Given the description of an element on the screen output the (x, y) to click on. 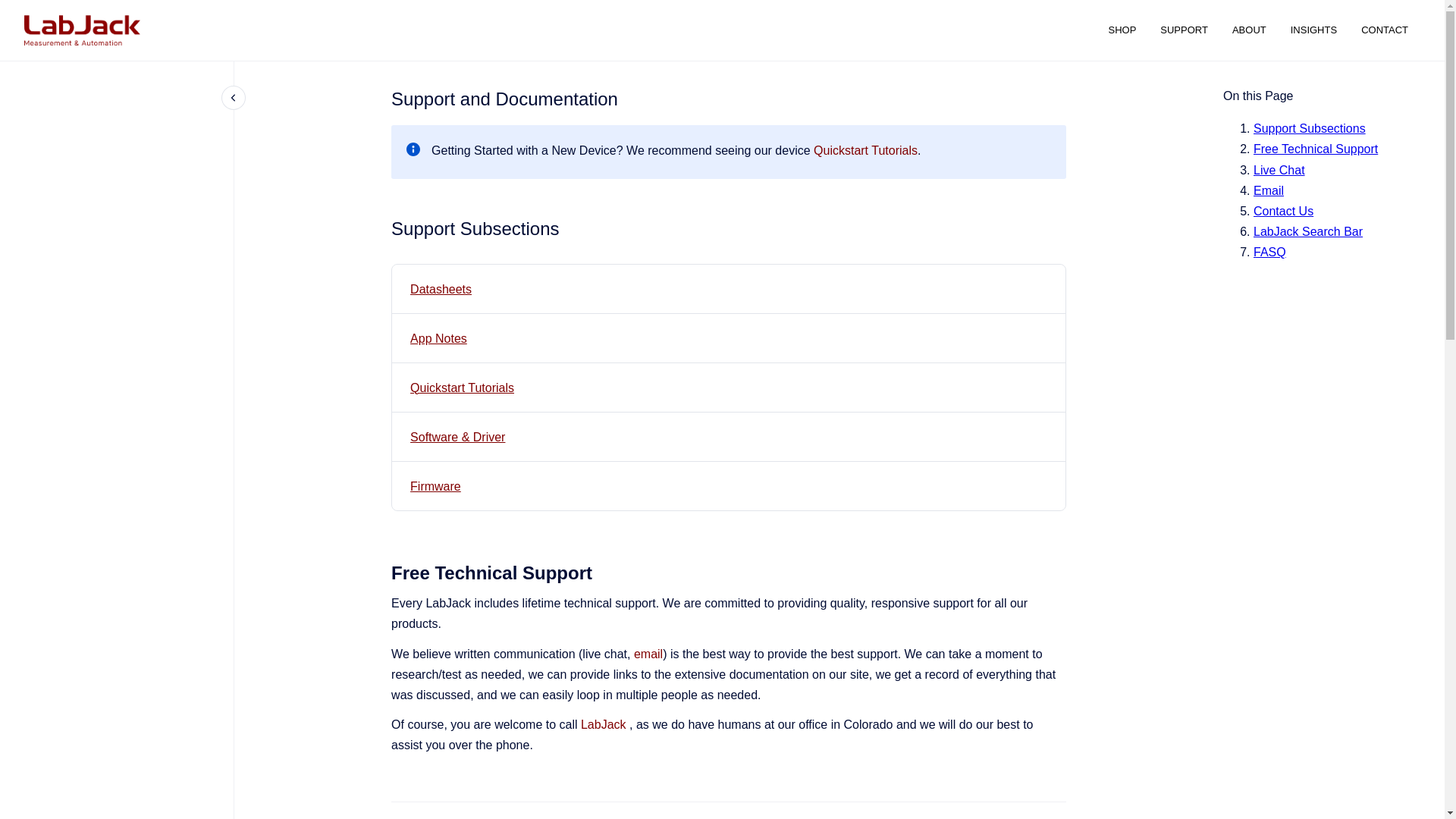
email (647, 653)
Copy to clipboard (384, 571)
App Notes (438, 338)
App Notes (438, 338)
SHOP (1122, 29)
Quickstart Tutorials (461, 387)
Datasheets (440, 288)
INSIGHTS (1313, 29)
Quickstart Tutorials (461, 387)
Go to homepage (81, 30)
SUPPORT (1184, 29)
Firmware (435, 486)
Firmware (435, 486)
Copy to clipboard (384, 227)
